Given the description of an element on the screen output the (x, y) to click on. 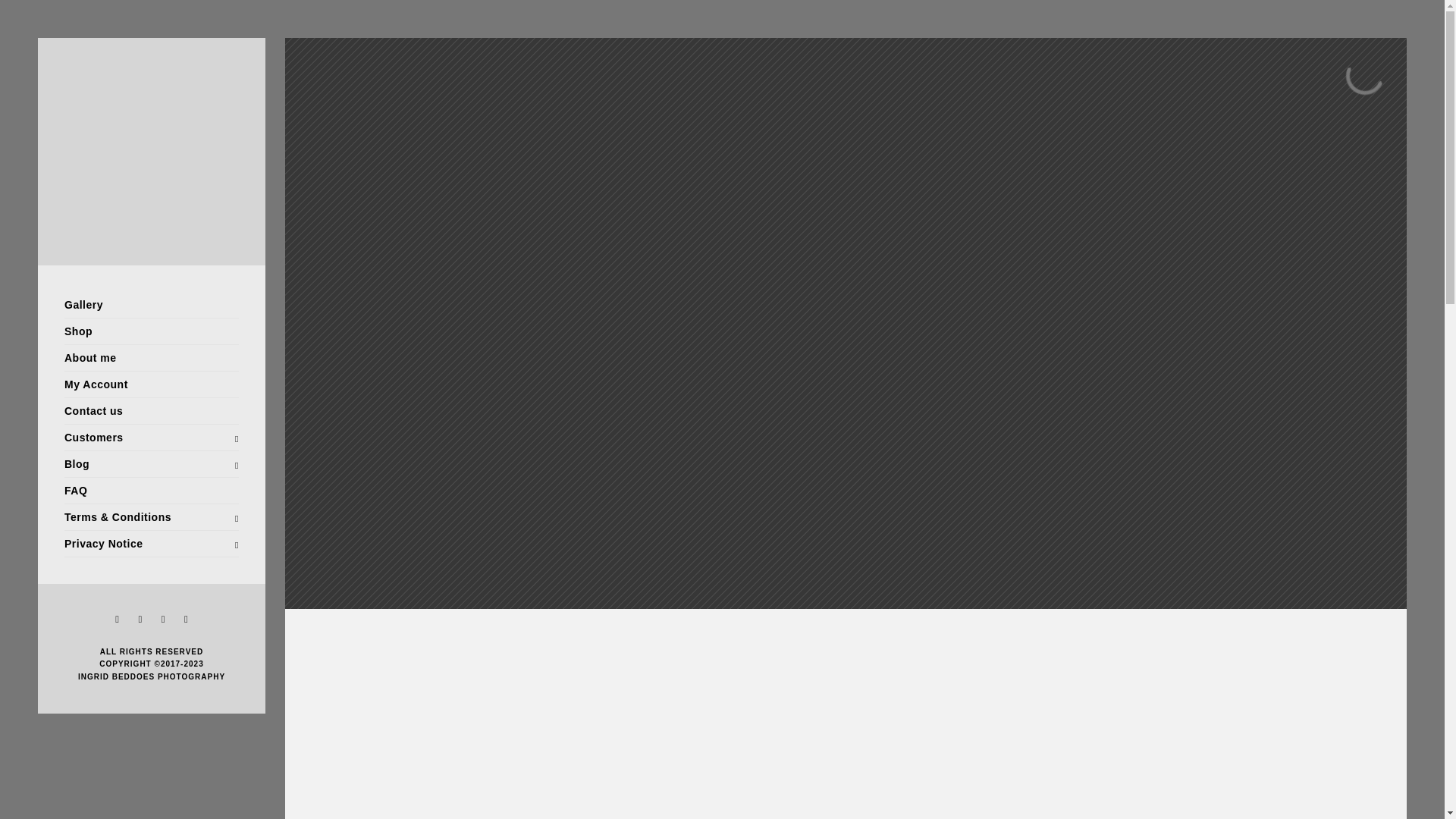
Instagram (185, 619)
Pinterest (162, 619)
Facebook (117, 619)
LinkedIn (140, 619)
